Given the description of an element on the screen output the (x, y) to click on. 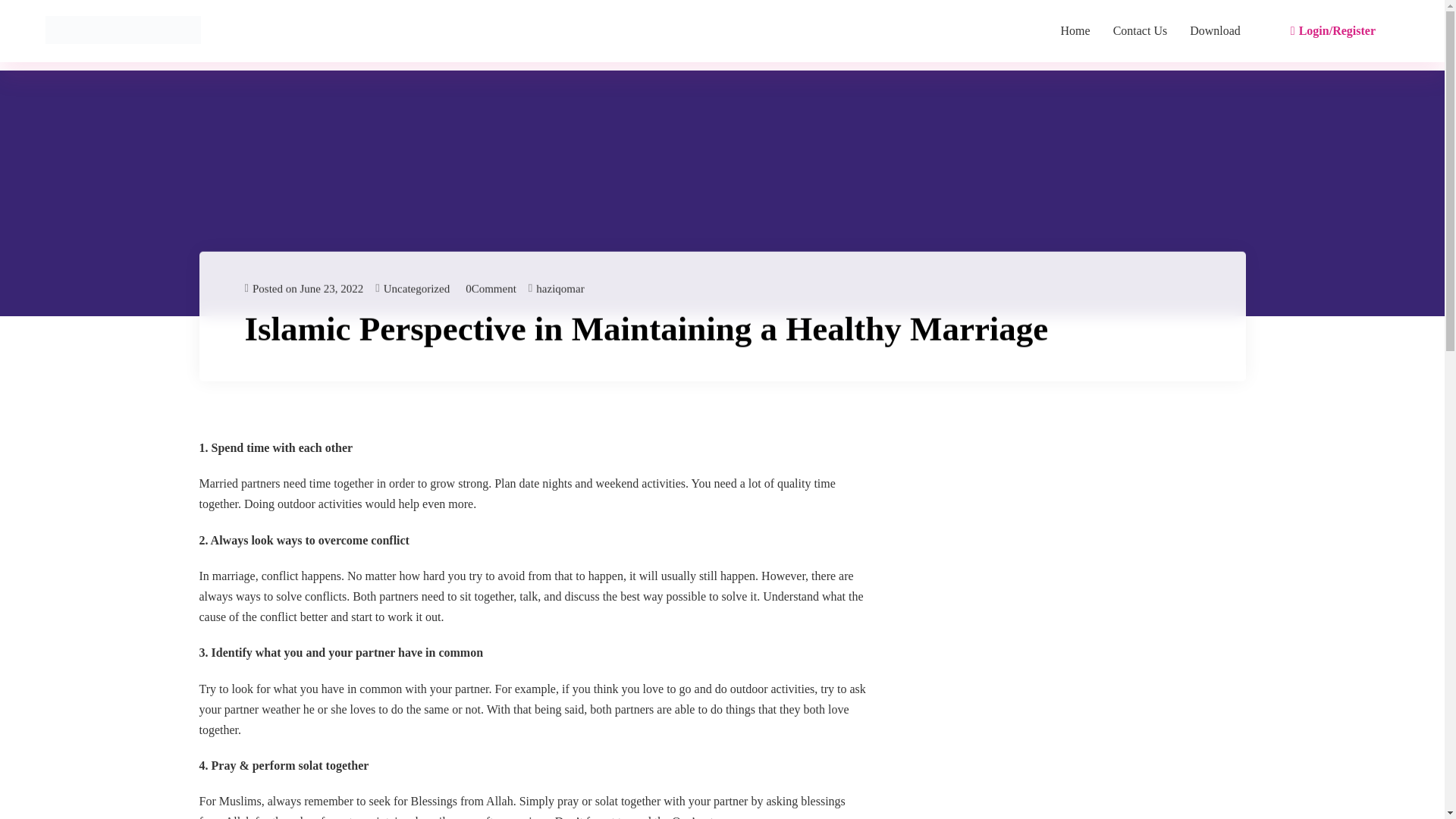
Contact Us (1140, 30)
Download (1214, 30)
Login (722, 428)
Home (1075, 30)
haziqomar (559, 287)
June 23, 2022 (488, 287)
